Given the description of an element on the screen output the (x, y) to click on. 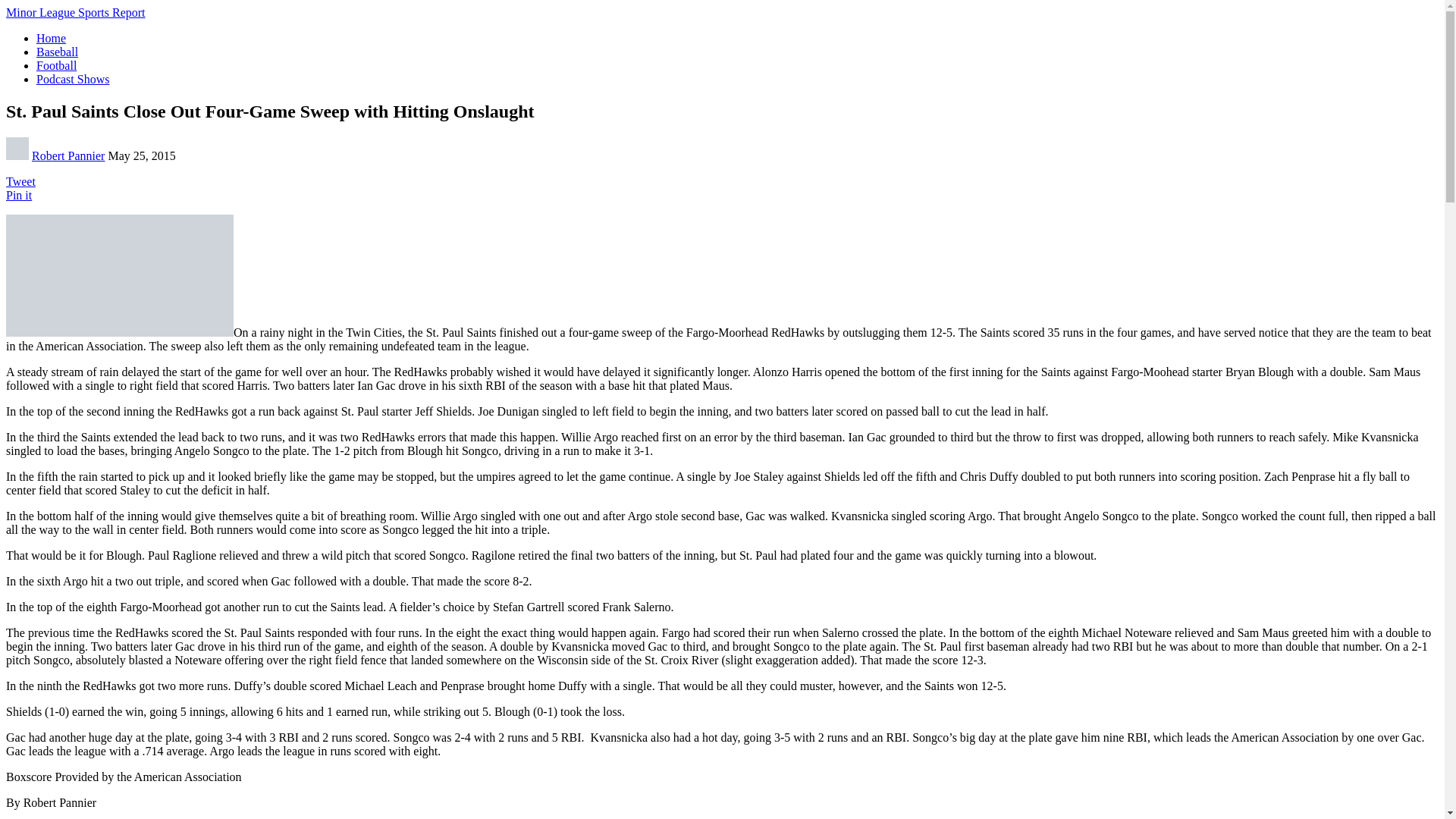
Pin it (18, 195)
Robert Pannier (68, 155)
Tweet (19, 181)
Podcast Shows (72, 78)
Minor League Sports Report (75, 11)
Baseball (57, 51)
Football (56, 65)
Minor League Sports Report (75, 11)
Home (50, 38)
